Given the description of an element on the screen output the (x, y) to click on. 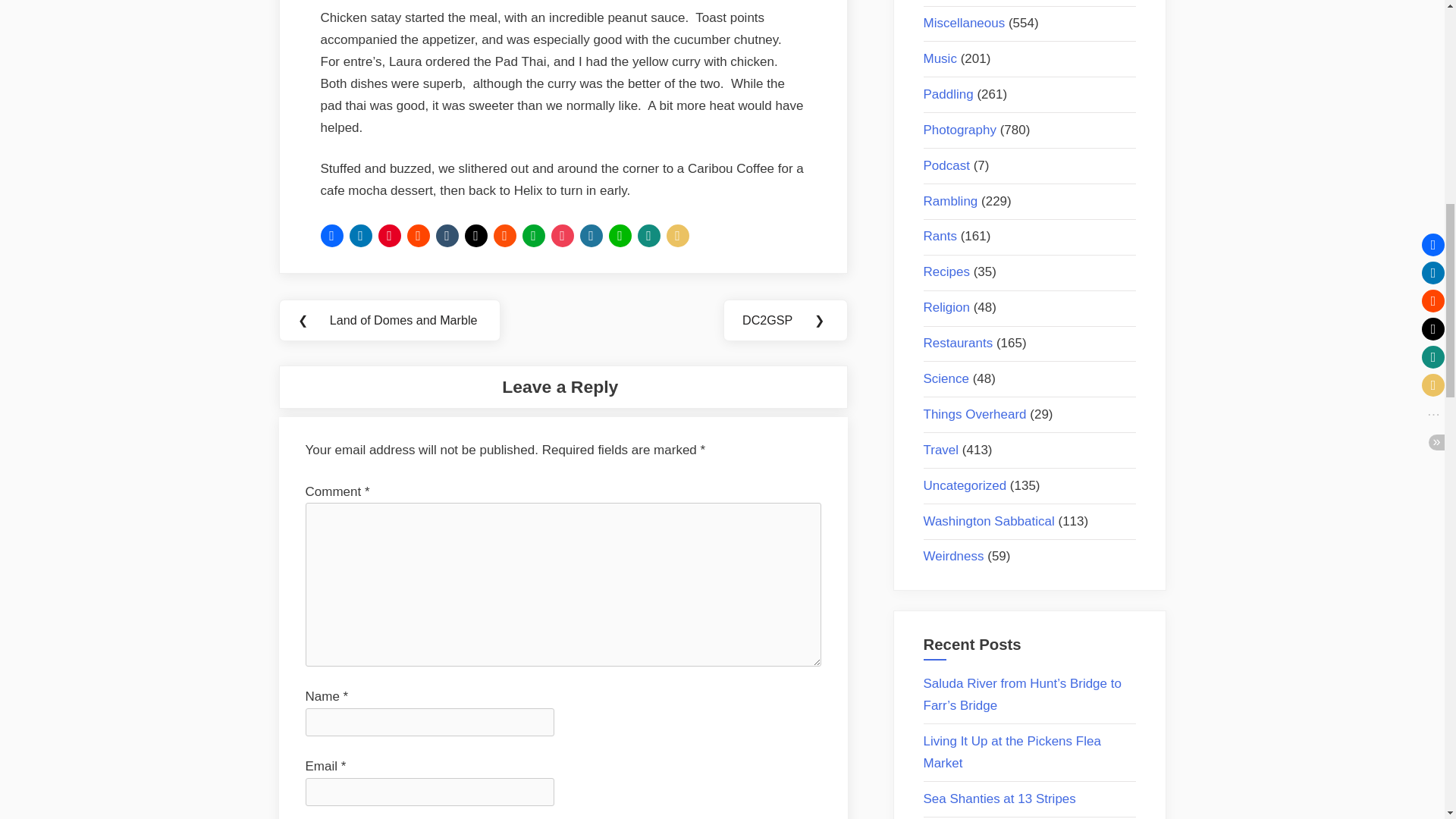
Paddling (948, 93)
Podcast (946, 165)
Photography (959, 129)
Miscellaneous (964, 22)
Rambling (950, 201)
Music (939, 58)
